Given the description of an element on the screen output the (x, y) to click on. 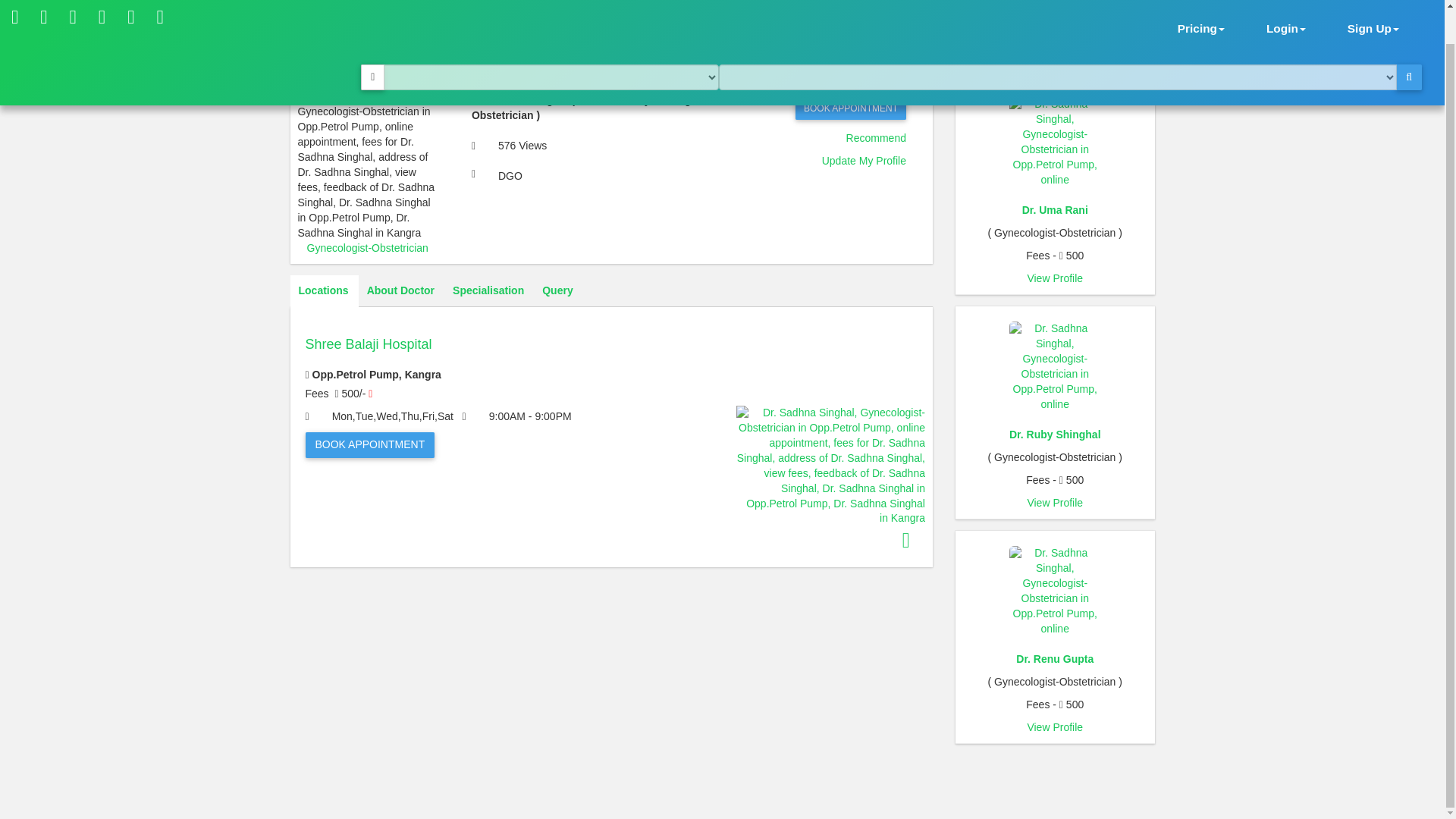
Locations (322, 291)
Current Location (372, 42)
About Doctor (400, 291)
BOOK APPOINTMENT (849, 108)
Update My Profile (863, 160)
Recommend (875, 137)
Sign Up (1372, 7)
Pricing (1200, 7)
This fees may vary (370, 394)
Shree Balaji Hospital (610, 358)
Query (557, 291)
Specialisation (488, 291)
Login (1286, 7)
View Clinic Images (906, 540)
Gynecologist-Obstetrician (367, 247)
